Given the description of an element on the screen output the (x, y) to click on. 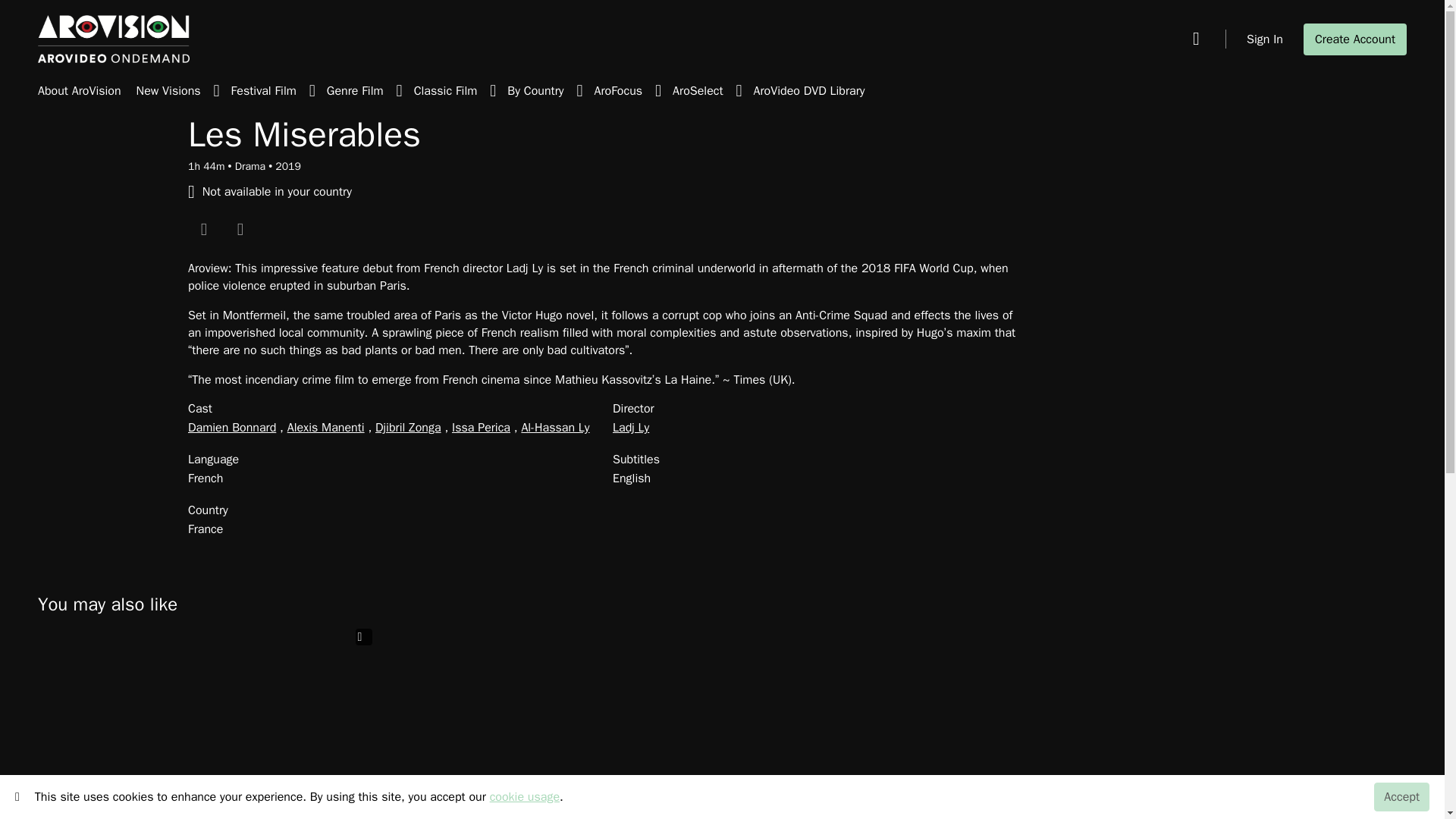
Accept (1401, 796)
About AroVision (78, 91)
Sign In (1264, 38)
Create Account (1354, 38)
Festival Film (278, 91)
Genre Film (369, 91)
New Visions (183, 91)
cookie usage (524, 796)
